Given the description of an element on the screen output the (x, y) to click on. 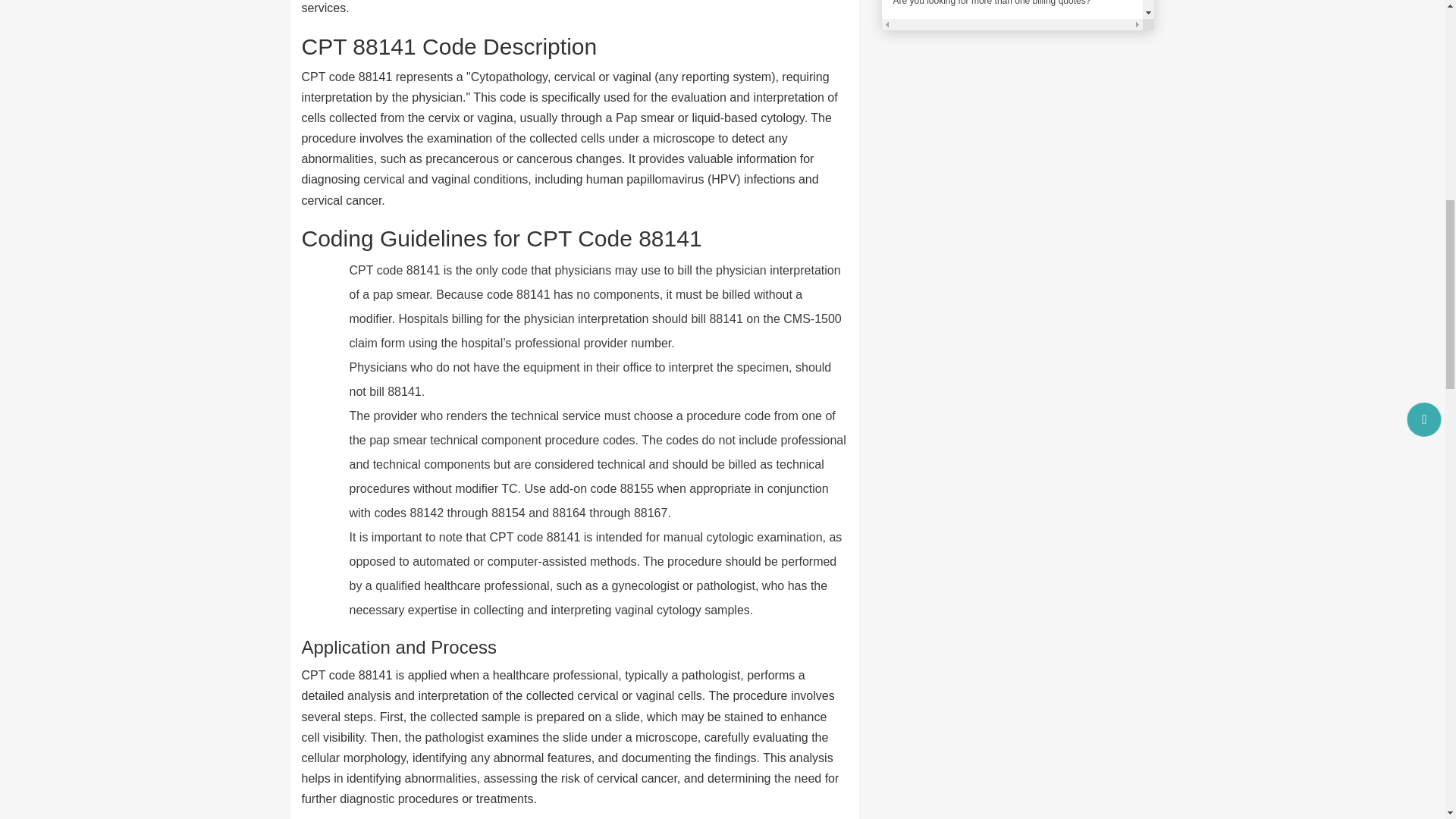
Yes (902, 25)
No (949, 25)
